Given the description of an element on the screen output the (x, y) to click on. 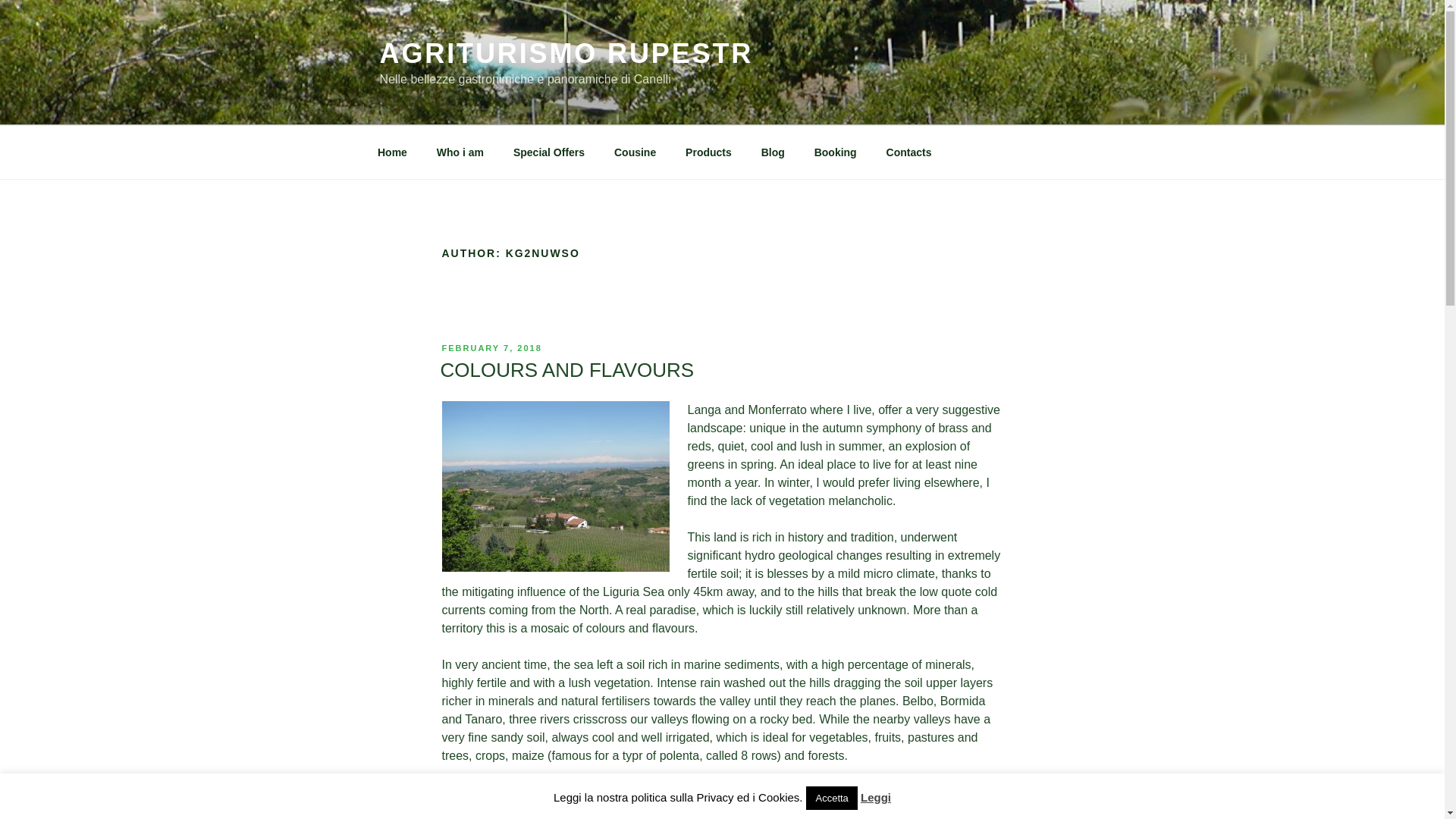
Special Offers (547, 151)
Cousine (633, 151)
Leggi (875, 797)
Blog (772, 151)
Contacts (908, 151)
Accetta (831, 797)
COLOURS AND FLAVOURS (566, 369)
AGRITURISMO RUPESTR (565, 52)
Home (392, 151)
FEBRUARY 7, 2018 (491, 347)
